Given the description of an element on the screen output the (x, y) to click on. 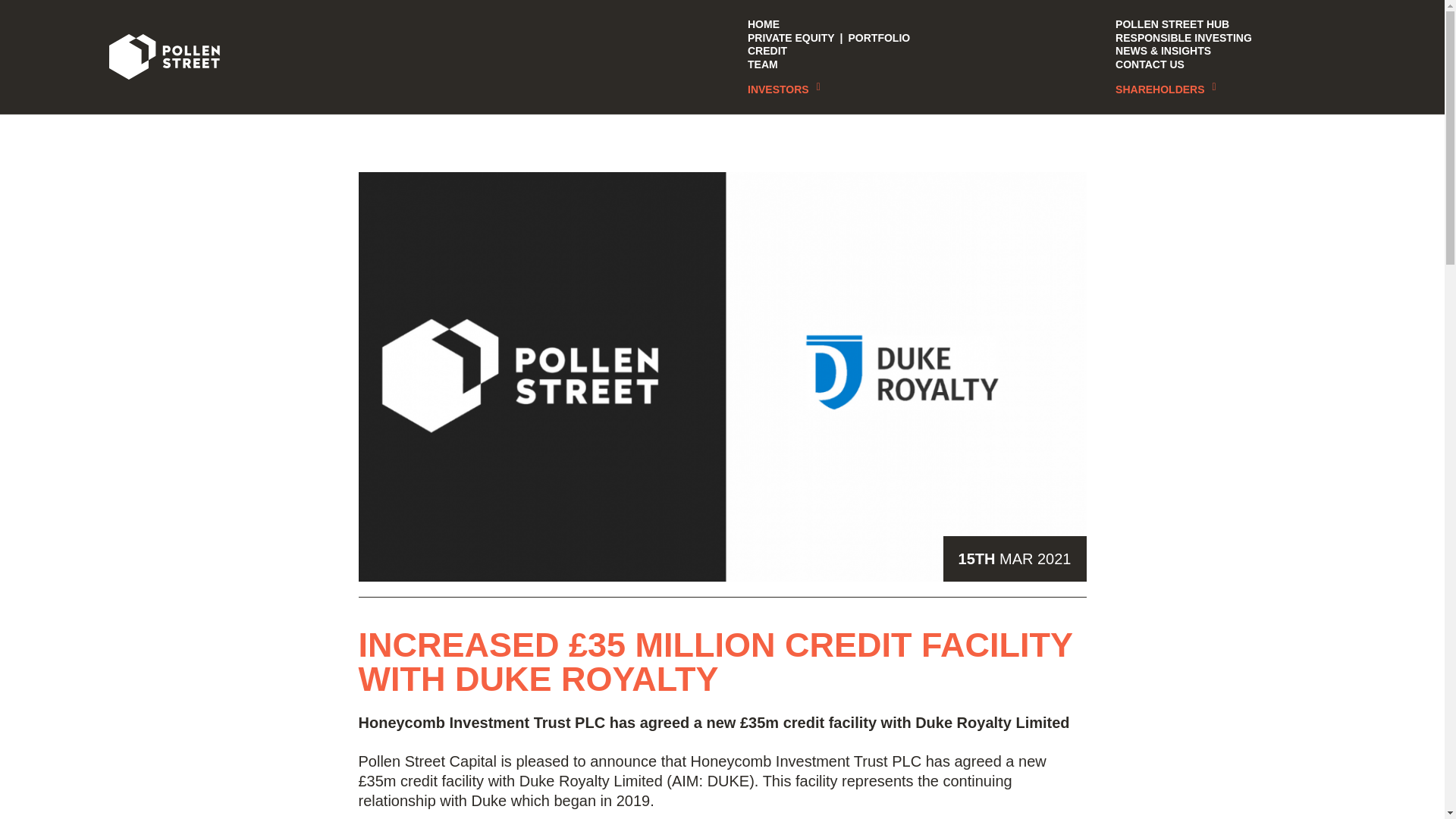
Link to: Team (762, 64)
Link to: Home (762, 24)
INVESTORS (783, 88)
Link to: Homepage (164, 56)
Link to: Responsible Investing (1184, 38)
SHAREHOLDERS (1164, 88)
Link to: Private Equity (790, 38)
CREDIT (766, 50)
HOME (762, 24)
POLLEN STREET HUB (1172, 24)
